Given the description of an element on the screen output the (x, y) to click on. 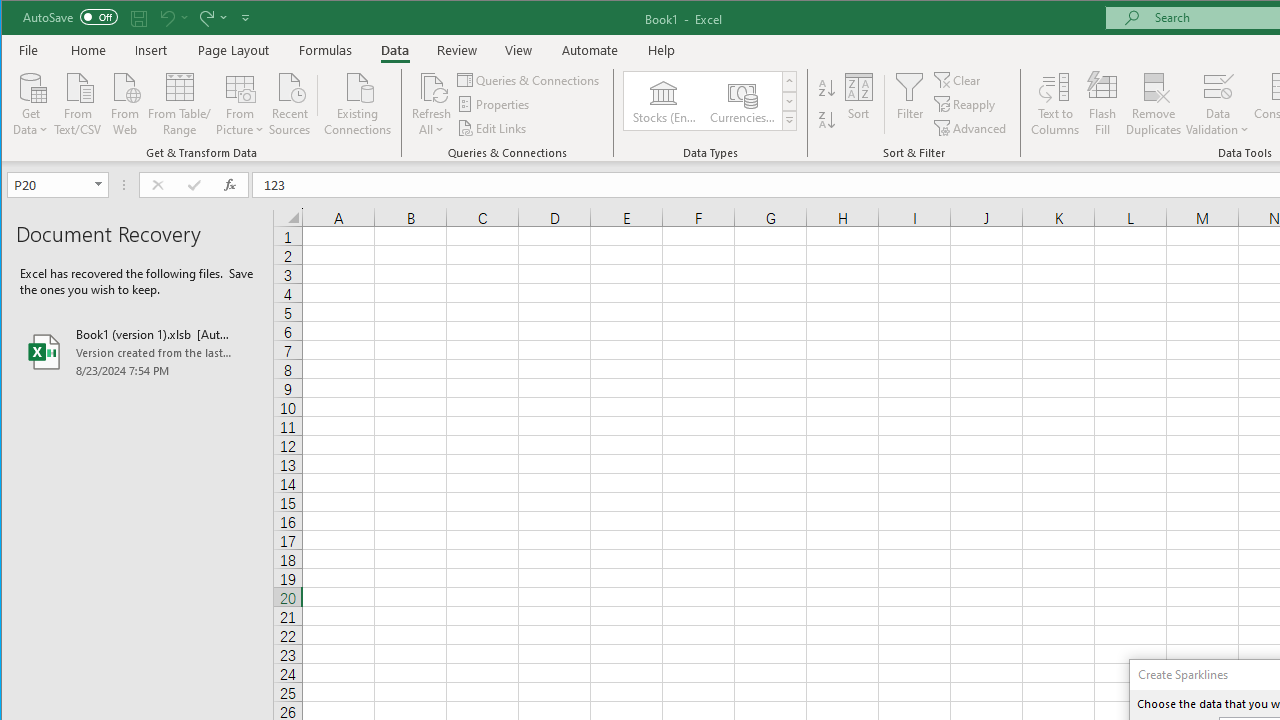
Sort Smallest to Largest (827, 88)
Sort Largest to Smallest (827, 119)
